Given the description of an element on the screen output the (x, y) to click on. 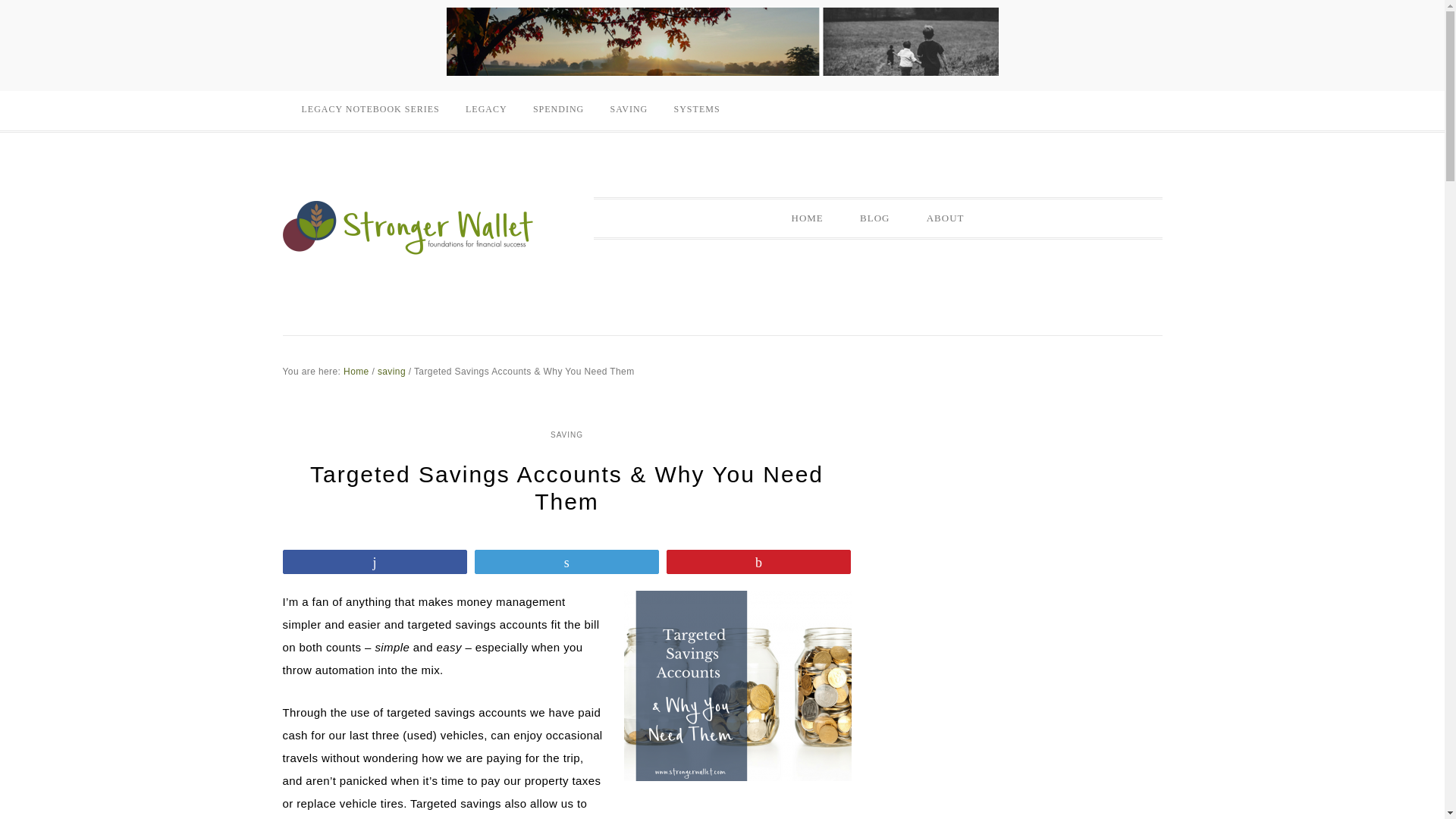
saving (391, 371)
BLOG (874, 218)
Home (356, 371)
SPENDING (558, 108)
STRONGER WALLET (407, 225)
ABOUT (945, 218)
HOME (807, 218)
SYSTEMS (697, 108)
SAVING (628, 108)
LEGACY NOTEBOOK SERIES (369, 108)
